Given the description of an element on the screen output the (x, y) to click on. 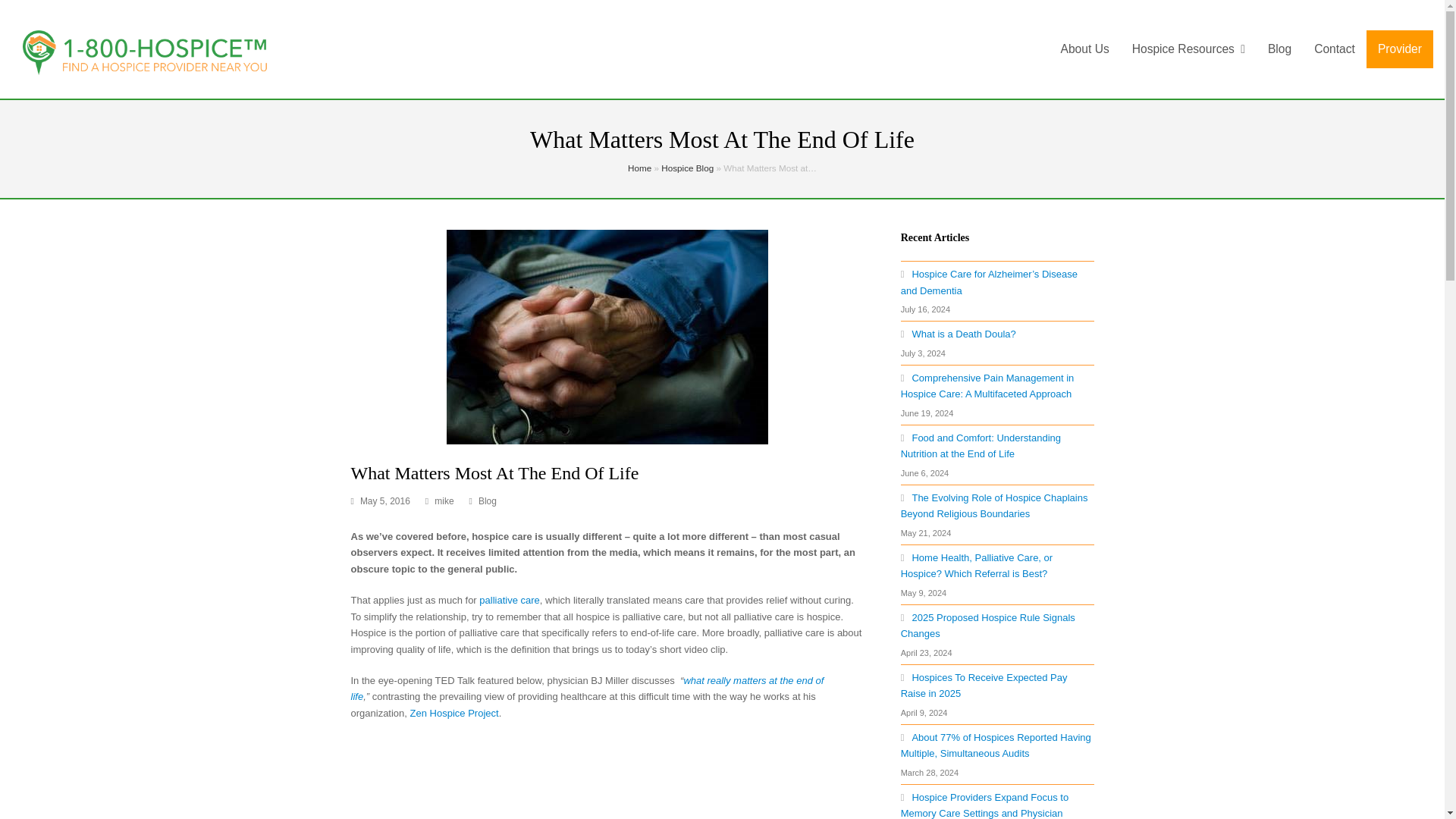
2025 Proposed Hospice Rule Signals Changes (988, 625)
Home (638, 167)
what really matters at the end of life (587, 687)
About Us (1085, 48)
Blog (487, 501)
mike (442, 501)
Hospice Blog (687, 167)
Food and Comfort: Understanding Nutrition at the End of Life (981, 445)
Blog (487, 501)
Hospices To Receive Expected Pay Raise in 2025 (984, 685)
palliative care (509, 600)
What is a Death Doula? (958, 333)
